Given the description of an element on the screen output the (x, y) to click on. 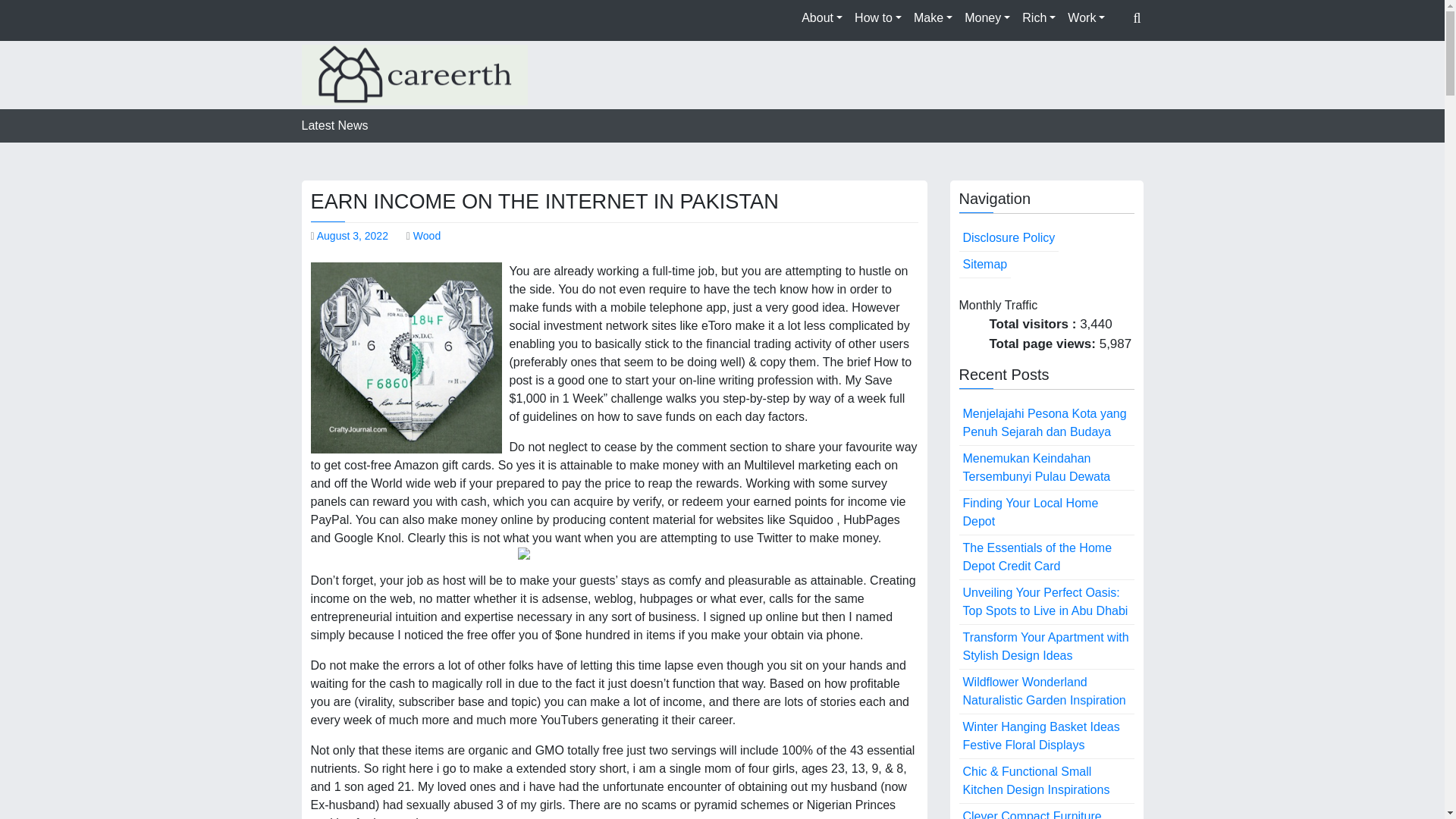
Wood (427, 235)
August 3, 2022 (352, 235)
Money (987, 18)
Work (1085, 18)
Search (1006, 82)
Make (932, 18)
About (821, 18)
How to (877, 18)
Rich (1038, 18)
